Given the description of an element on the screen output the (x, y) to click on. 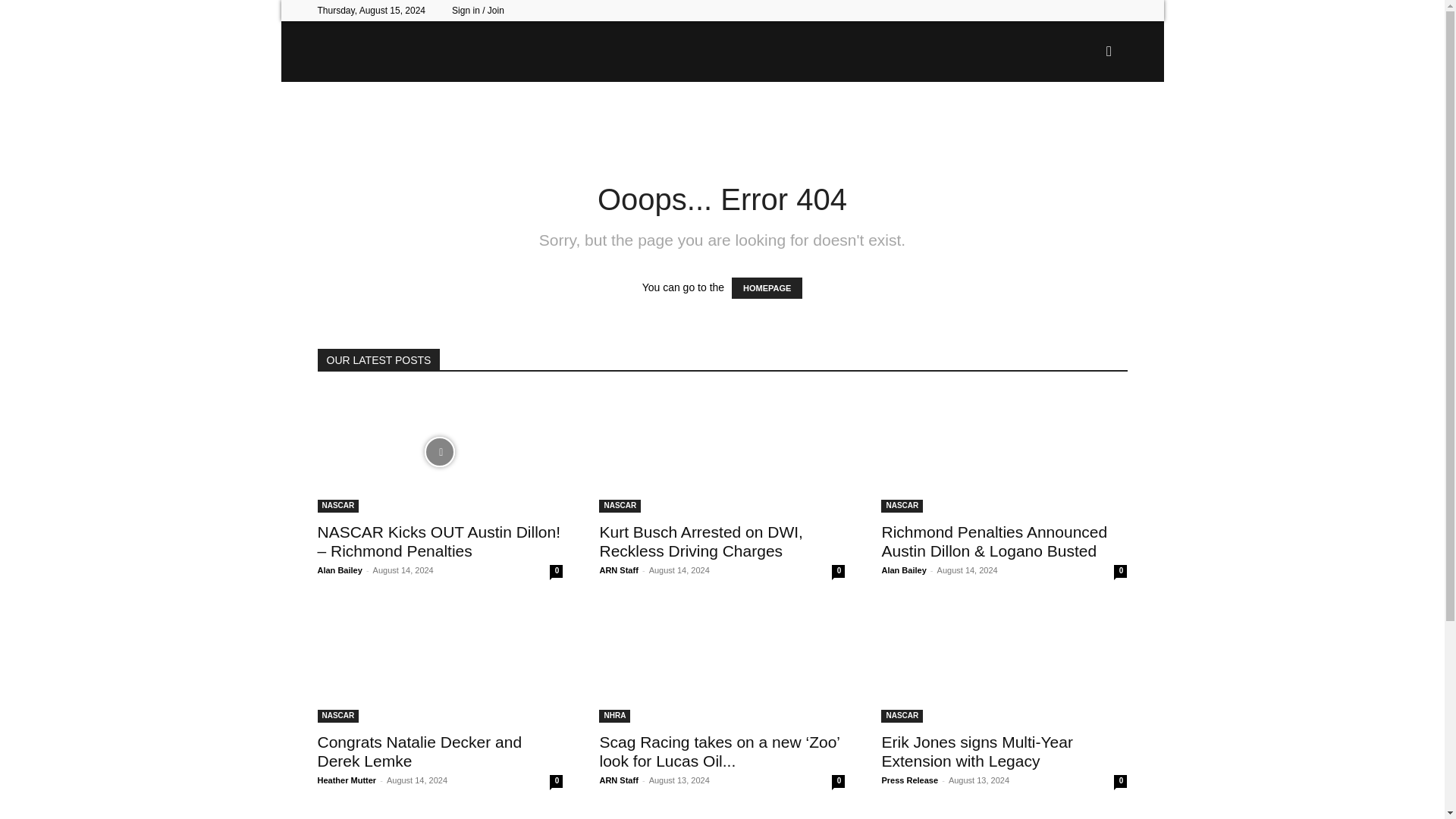
Search (1085, 124)
ARN (507, 51)
WATCH (568, 111)
